Given the description of an element on the screen output the (x, y) to click on. 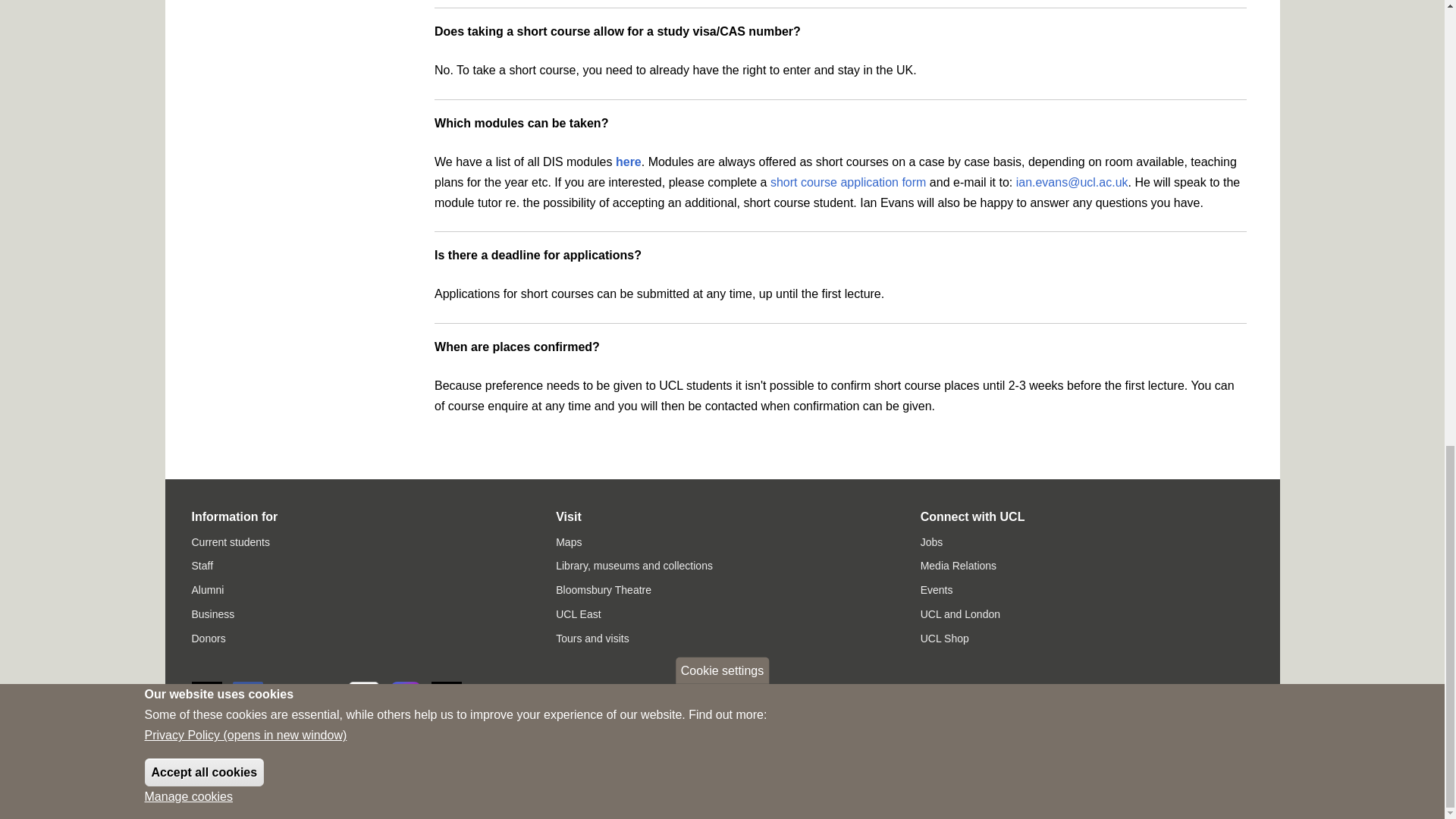
Donors (207, 638)
Business (212, 613)
UCL East (577, 613)
Tours and visits (592, 638)
Jobs (931, 541)
Maps (568, 541)
Current students (229, 541)
Media Relations (957, 565)
Library, museums and collections (634, 565)
Bloomsbury Theatre (603, 589)
Staff (201, 565)
here (628, 161)
Alumni (207, 589)
short course application form (848, 182)
